Given the description of an element on the screen output the (x, y) to click on. 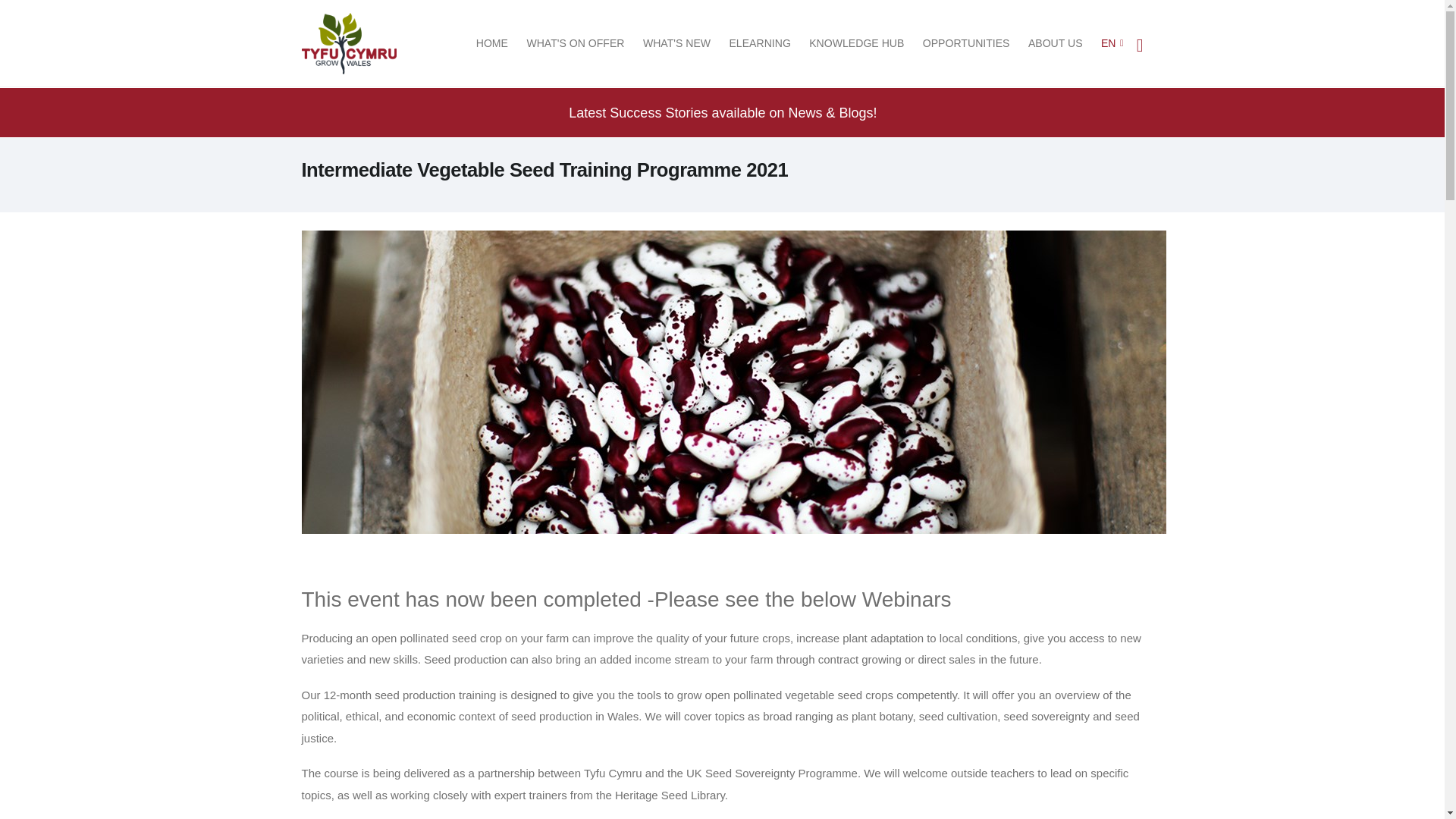
Opportunities (966, 43)
OPPORTUNITIES (966, 43)
Knowledge Hub (856, 43)
What's on Offer (574, 43)
WHAT'S ON OFFER (574, 43)
KNOWLEDGE HUB (856, 43)
